Given the description of an element on the screen output the (x, y) to click on. 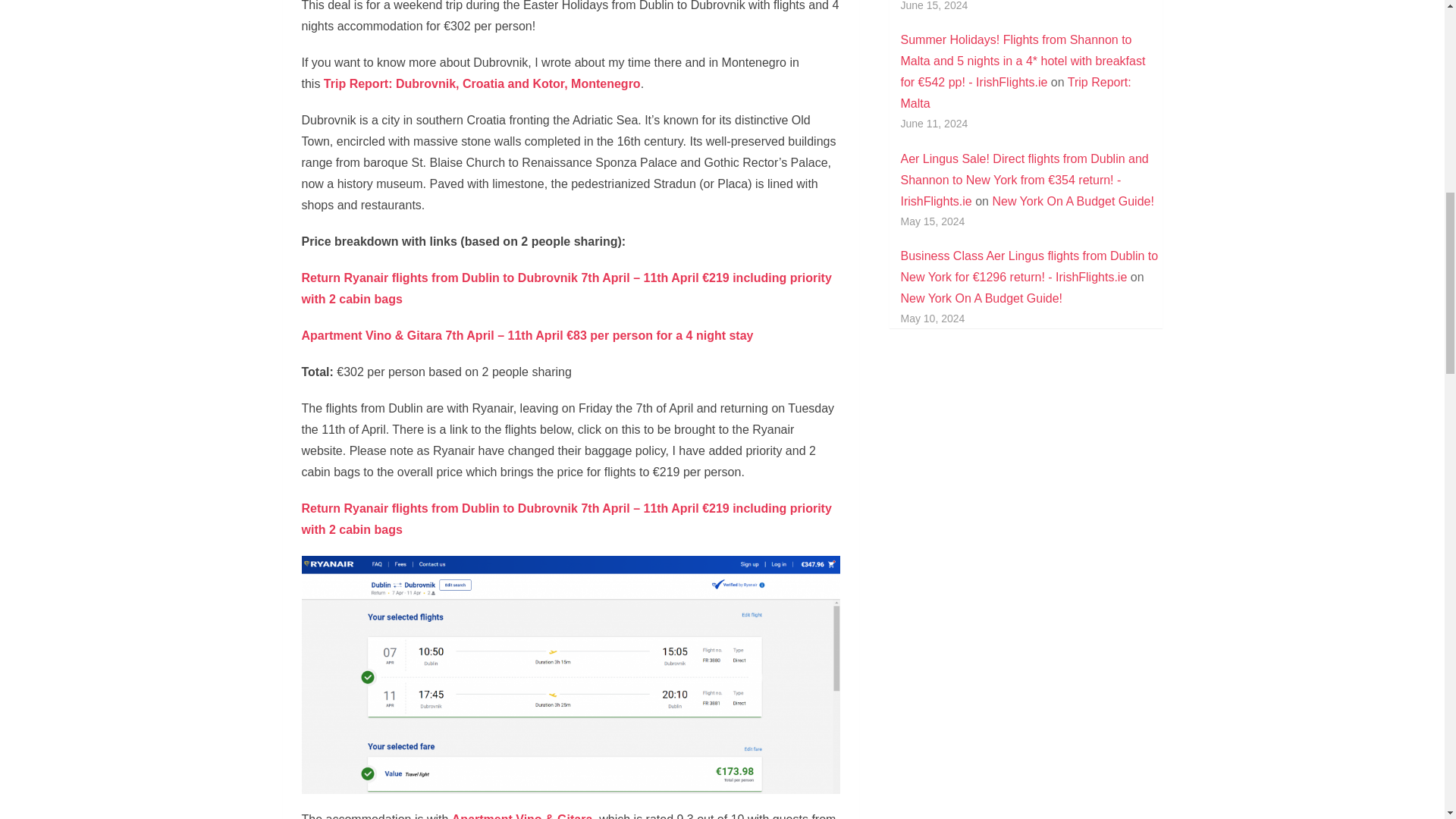
Trip Report: Malta (1016, 92)
New York On A Budget Guide! (1072, 201)
Trip Report: Dubrovnik, Croatia and Kotor, Montenegro (481, 83)
